Given the description of an element on the screen output the (x, y) to click on. 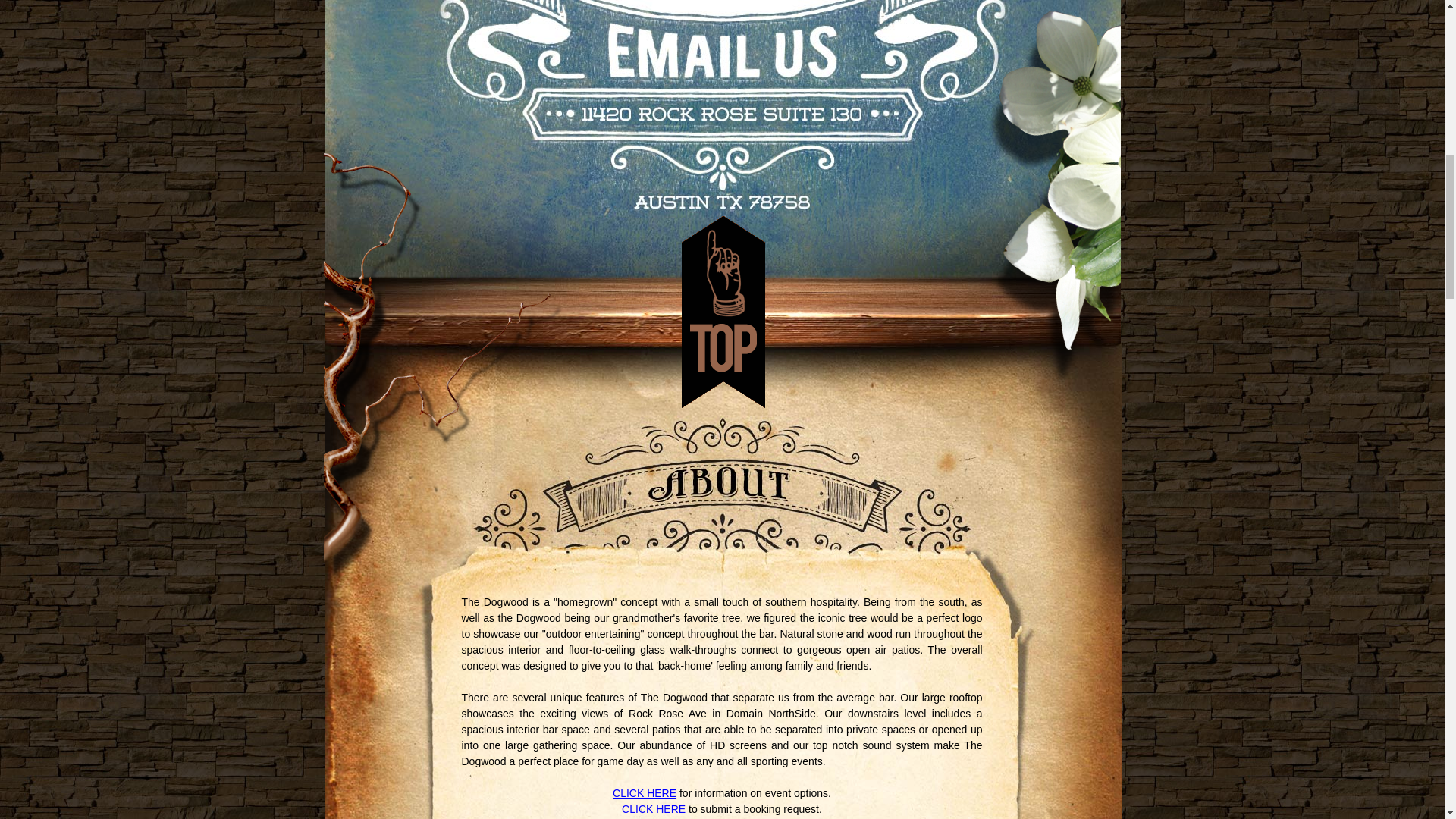
CLICK HERE (653, 808)
CLICK HERE (644, 793)
